Given the description of an element on the screen output the (x, y) to click on. 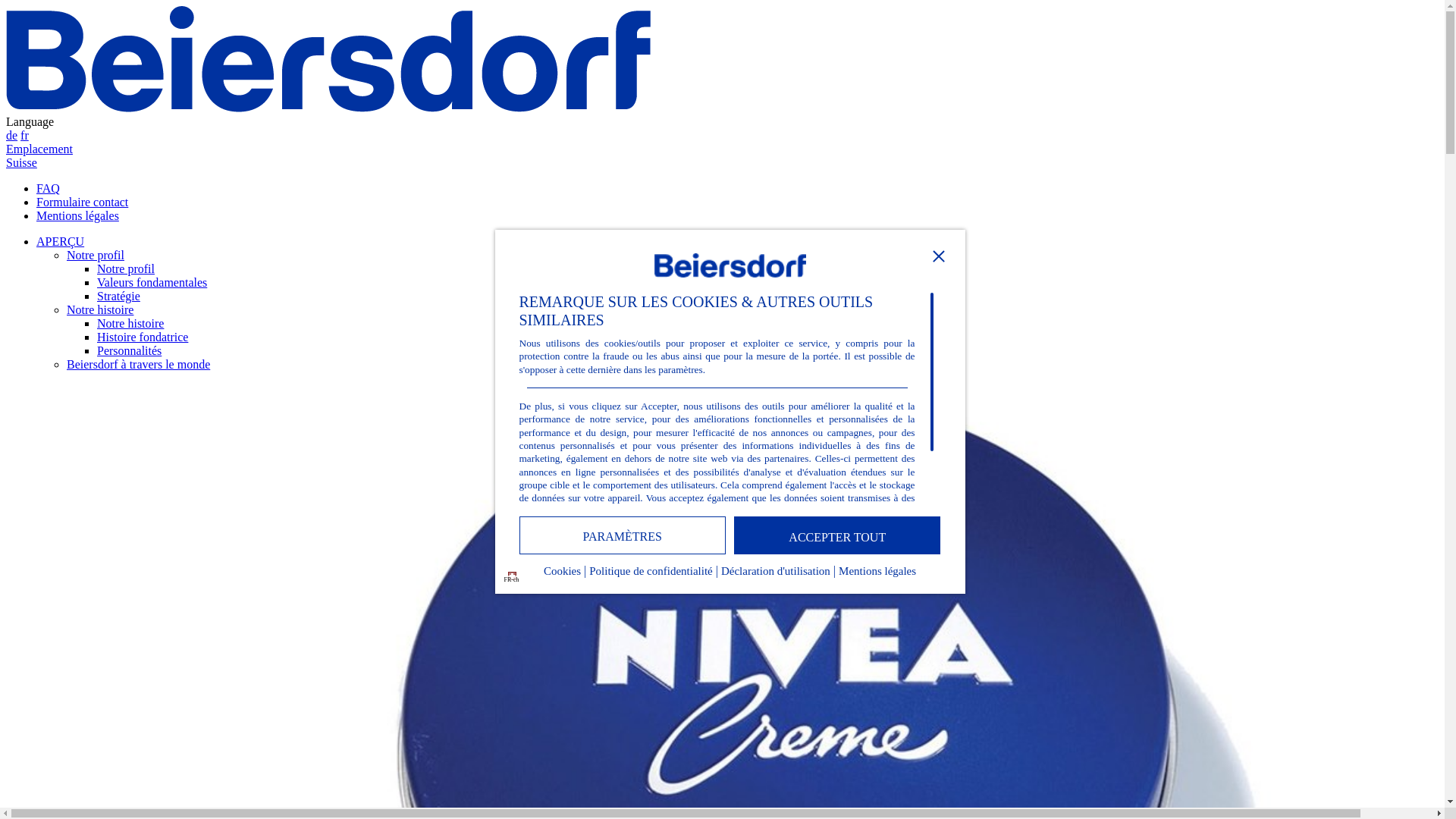
FAQ Element type: text (47, 188)
fr Element type: text (24, 134)
Notre profil Element type: text (95, 254)
Notre profil Element type: text (125, 268)
Notre histoire Element type: text (130, 322)
Emplacement
Suisse Element type: text (722, 155)
Formulaire contact Element type: text (82, 201)
de Element type: text (11, 134)
Cookies Element type: text (561, 574)
Language: fr-ch Element type: hover (512, 575)
Notre histoire Element type: text (99, 309)
ACCEPTER TOUT Element type: text (837, 534)
Valeurs fondamentales Element type: text (152, 282)
Histoire fondatrice Element type: text (142, 336)
